Given the description of an element on the screen output the (x, y) to click on. 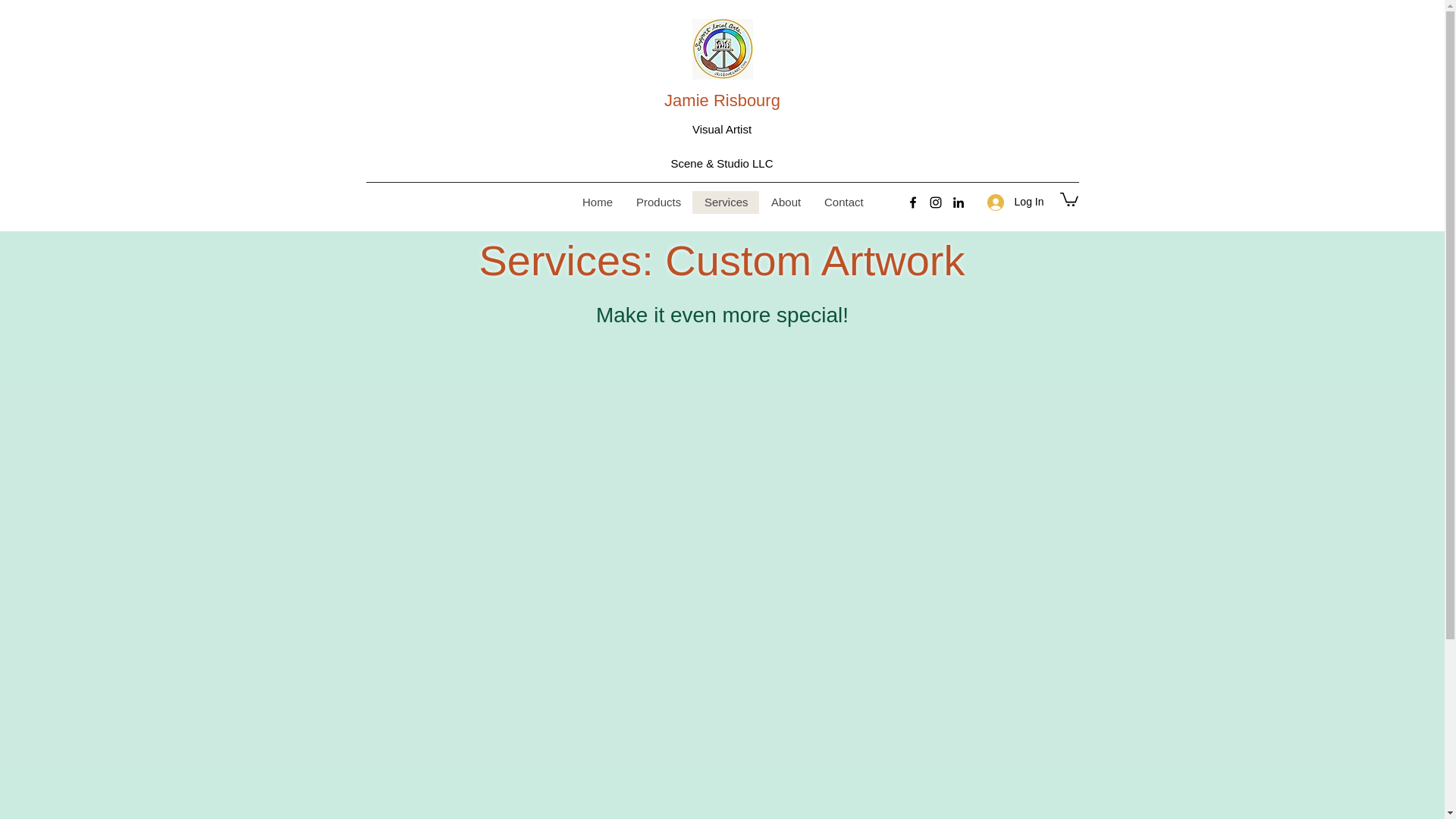
Jamie Risbourg (721, 99)
Services (725, 201)
About (785, 201)
Home (597, 201)
Contact (843, 201)
Products (658, 201)
Log In (1015, 202)
